Given the description of an element on the screen output the (x, y) to click on. 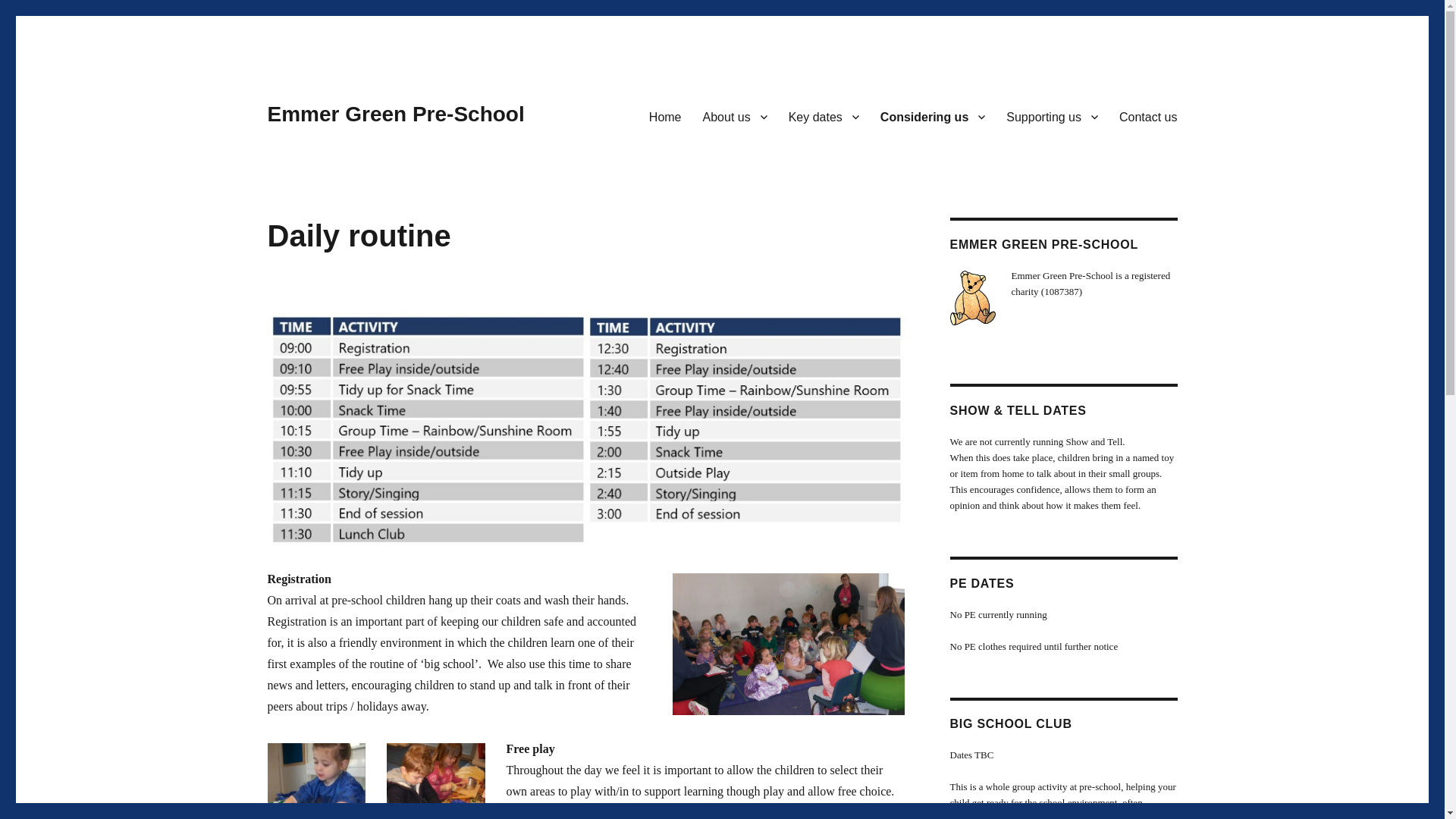
Supporting us (1051, 116)
Considering us (932, 116)
Home (666, 116)
Key dates (823, 116)
Emmer Green Pre-School (395, 114)
About us (735, 116)
Contact us (1148, 116)
